Given the description of an element on the screen output the (x, y) to click on. 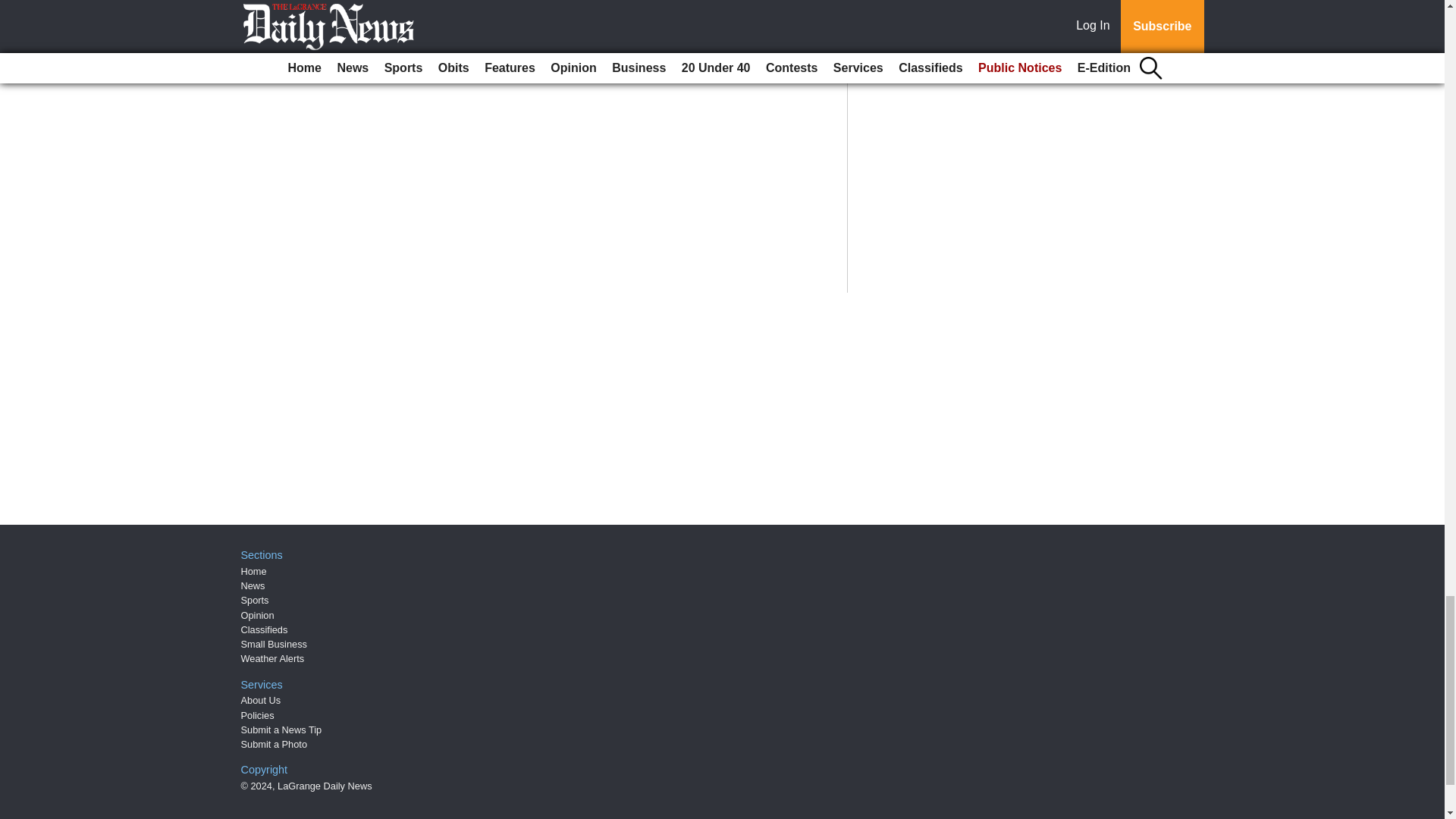
Sports (255, 600)
News (252, 585)
Home (253, 571)
